Given the description of an element on the screen output the (x, y) to click on. 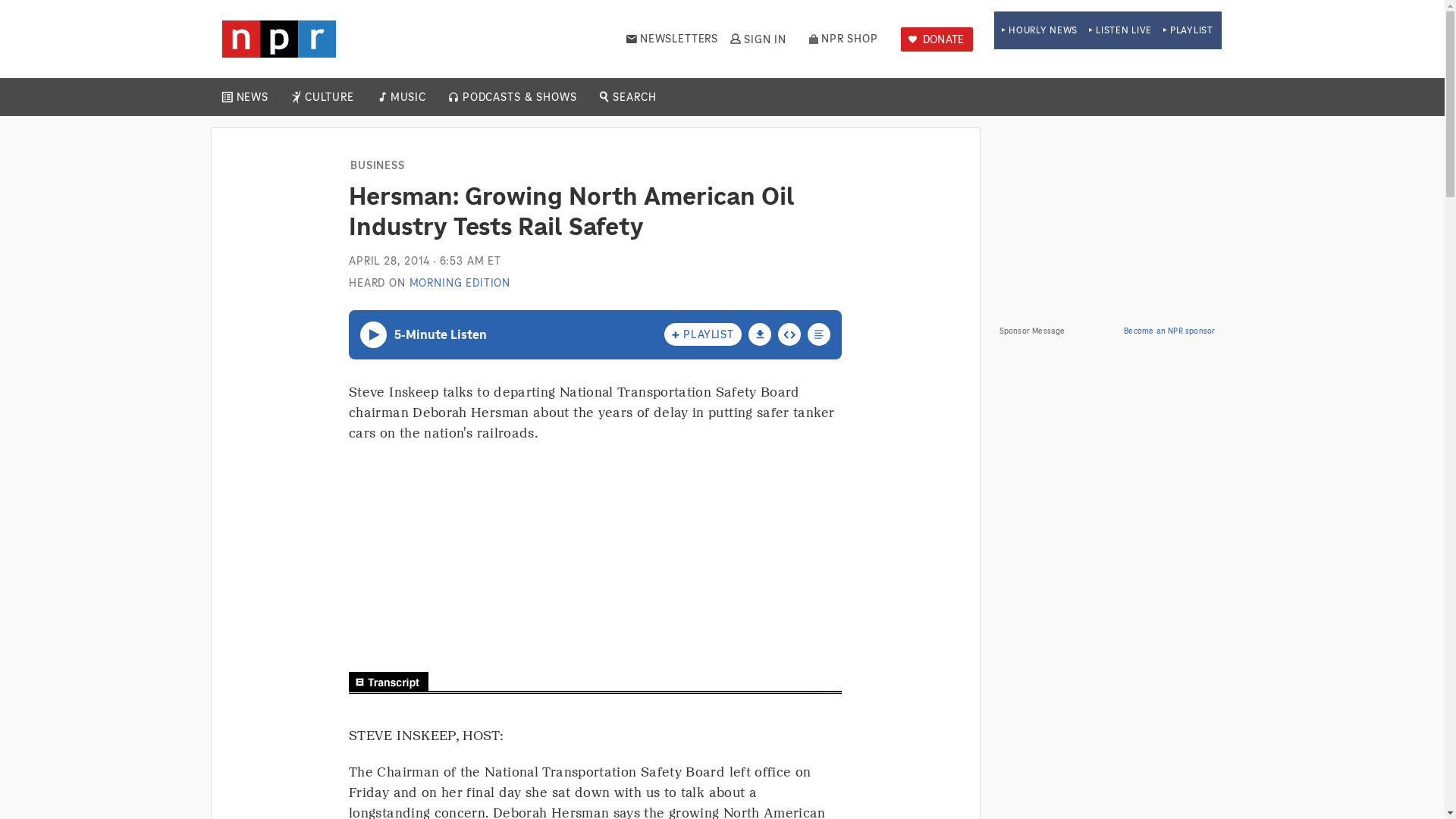
CULTURE (328, 96)
DONATE (936, 39)
LISTEN LIVE (1120, 30)
NPR SHOP (843, 38)
MUSIC (407, 96)
SIGN IN (757, 38)
NEWSLETTERS (671, 38)
NEWS (251, 96)
HOURLY NEWS (1039, 30)
PLAYLIST (1187, 30)
